Given the description of an element on the screen output the (x, y) to click on. 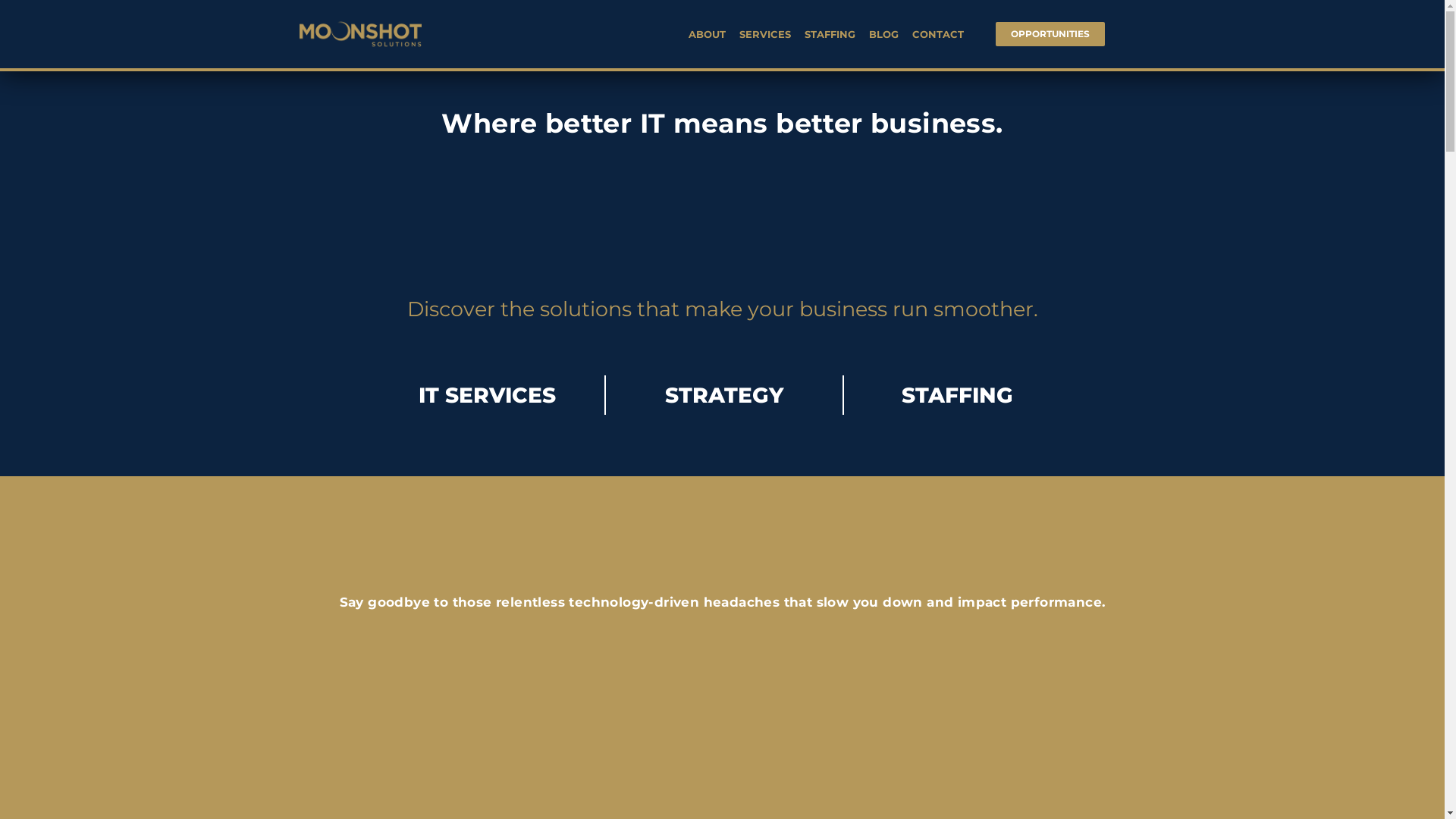
OPPORTUNITIES Element type: text (1049, 33)
SERVICES Element type: text (764, 34)
STAFFING Element type: text (829, 34)
BLOG Element type: text (883, 34)
CONTACT Element type: text (937, 34)
ABOUT Element type: text (707, 34)
